Given the description of an element on the screen output the (x, y) to click on. 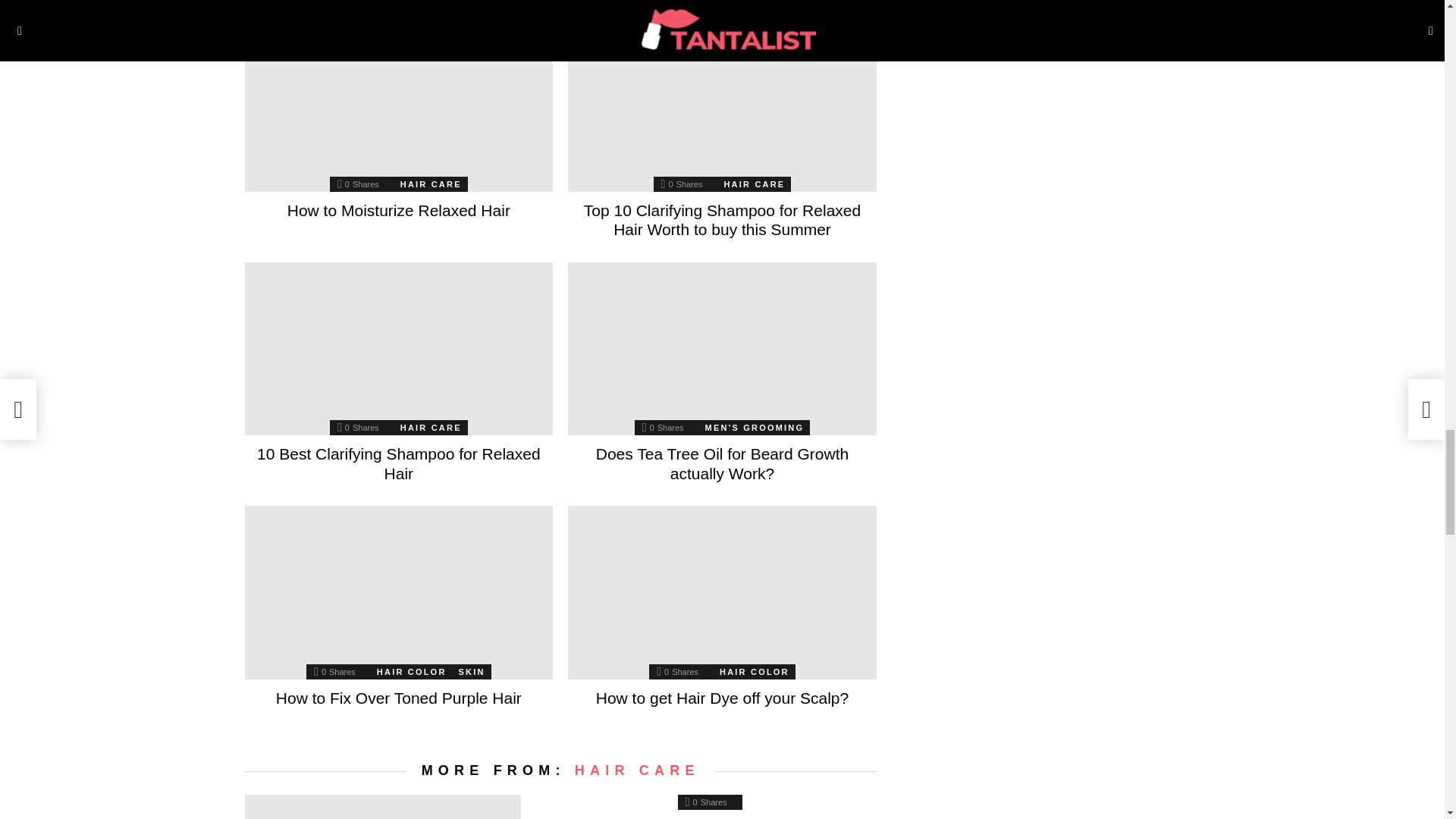
HAIR CARE (753, 183)
How to get Hair Dye off your Scalp? (721, 592)
How to Moisturize Relaxed Hair (398, 104)
HAIR CARE (430, 183)
HAIR CARE (430, 427)
How to Fix Over Toned Purple Hair (398, 592)
10 Best Clarifying Shampoo for Relaxed Hair (398, 348)
How to Moisturize Relaxed Hair (398, 210)
